Given the description of an element on the screen output the (x, y) to click on. 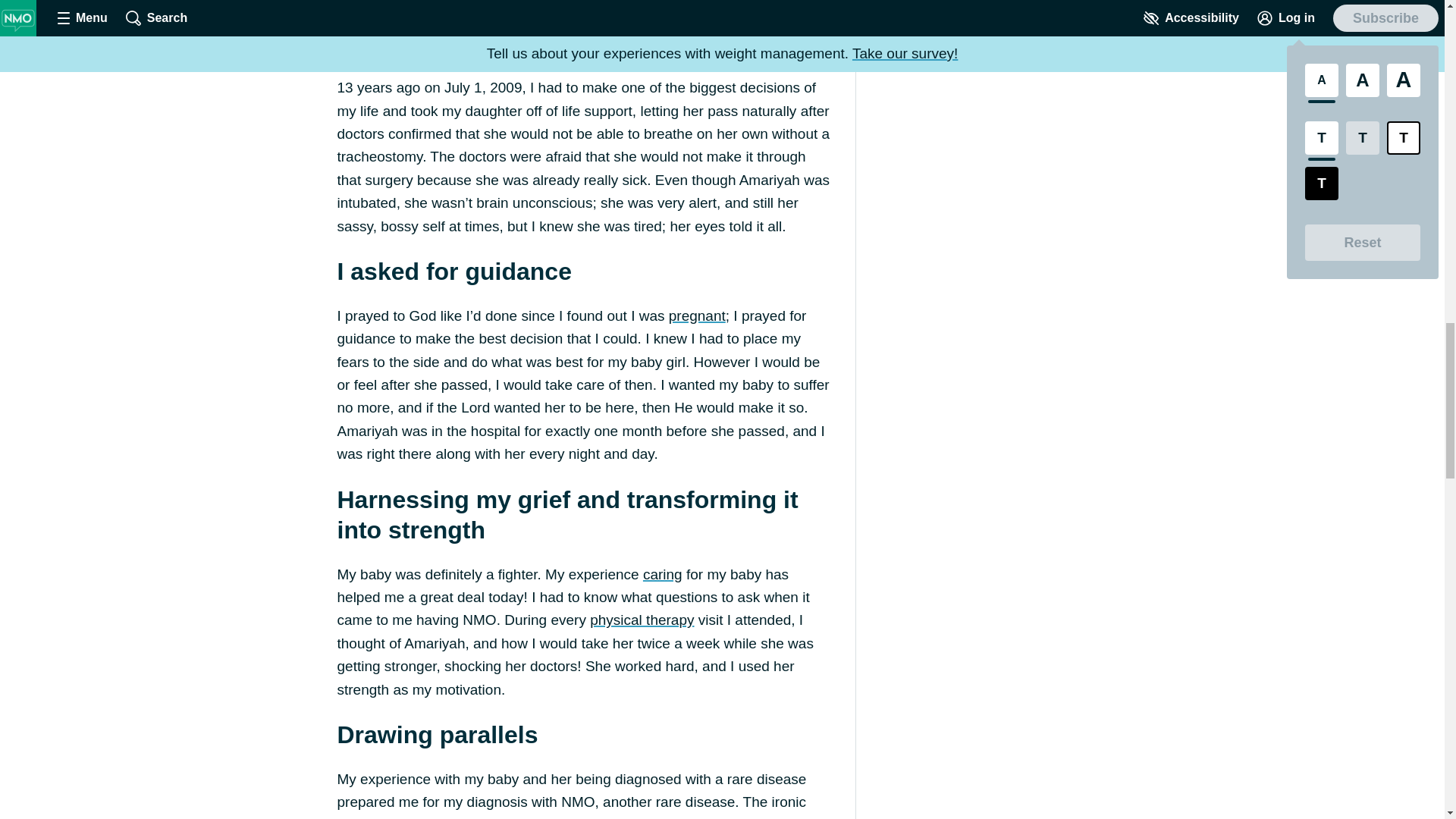
caring (662, 574)
physical therapy (641, 619)
pregnant (696, 315)
